Given the description of an element on the screen output the (x, y) to click on. 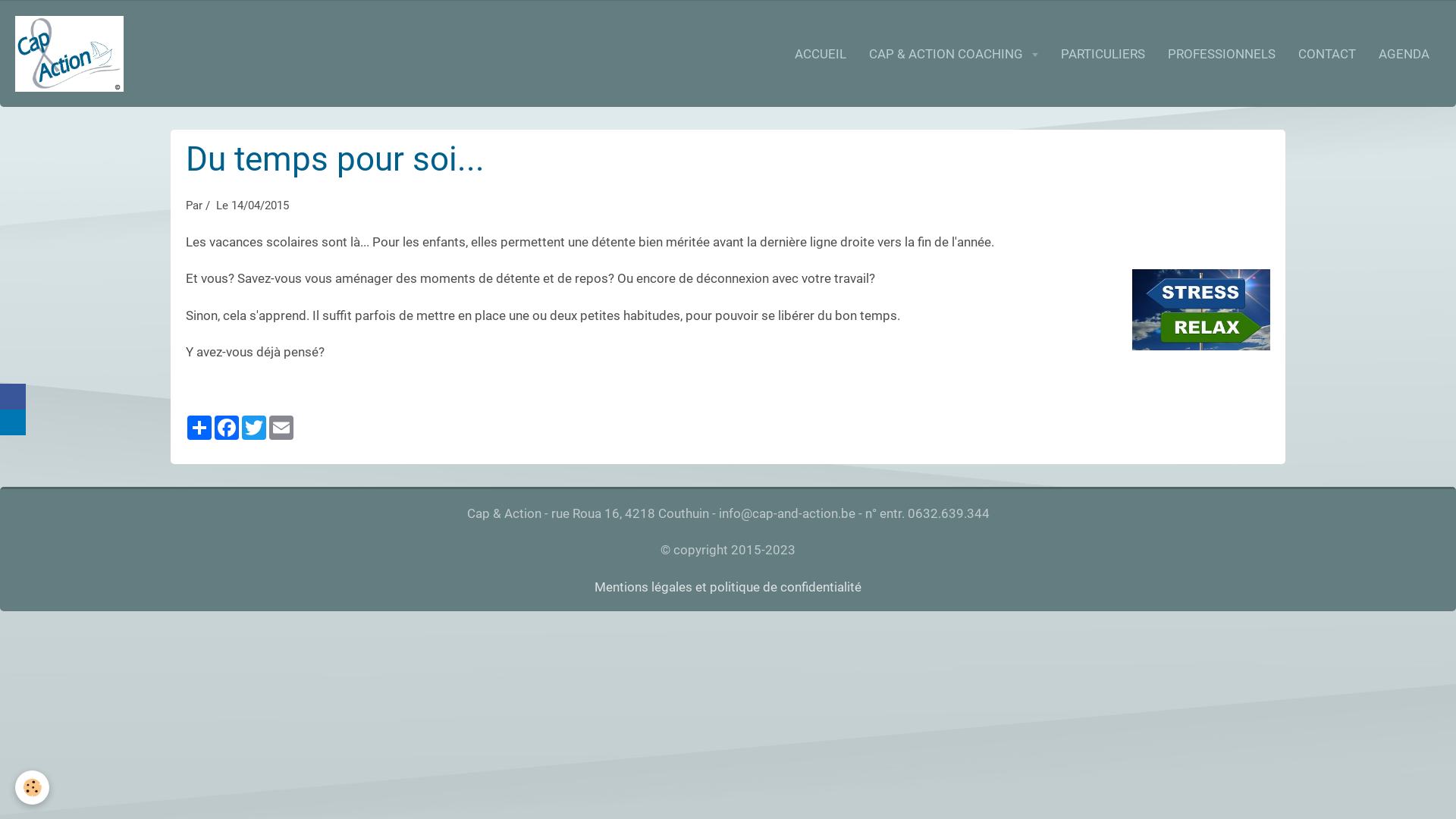
PROFESSIONNELS Element type: text (1221, 53)
Facebook Element type: text (226, 427)
Twitter Element type: text (253, 427)
Partager Element type: text (199, 427)
Email Element type: text (280, 427)
ACCUEIL Element type: text (819, 53)
CAP & ACTION COACHING Element type: text (952, 53)
CONTACT Element type: text (1326, 53)
AGENDA Element type: text (1403, 53)
PARTICULIERS Element type: text (1102, 53)
